Given the description of an element on the screen output the (x, y) to click on. 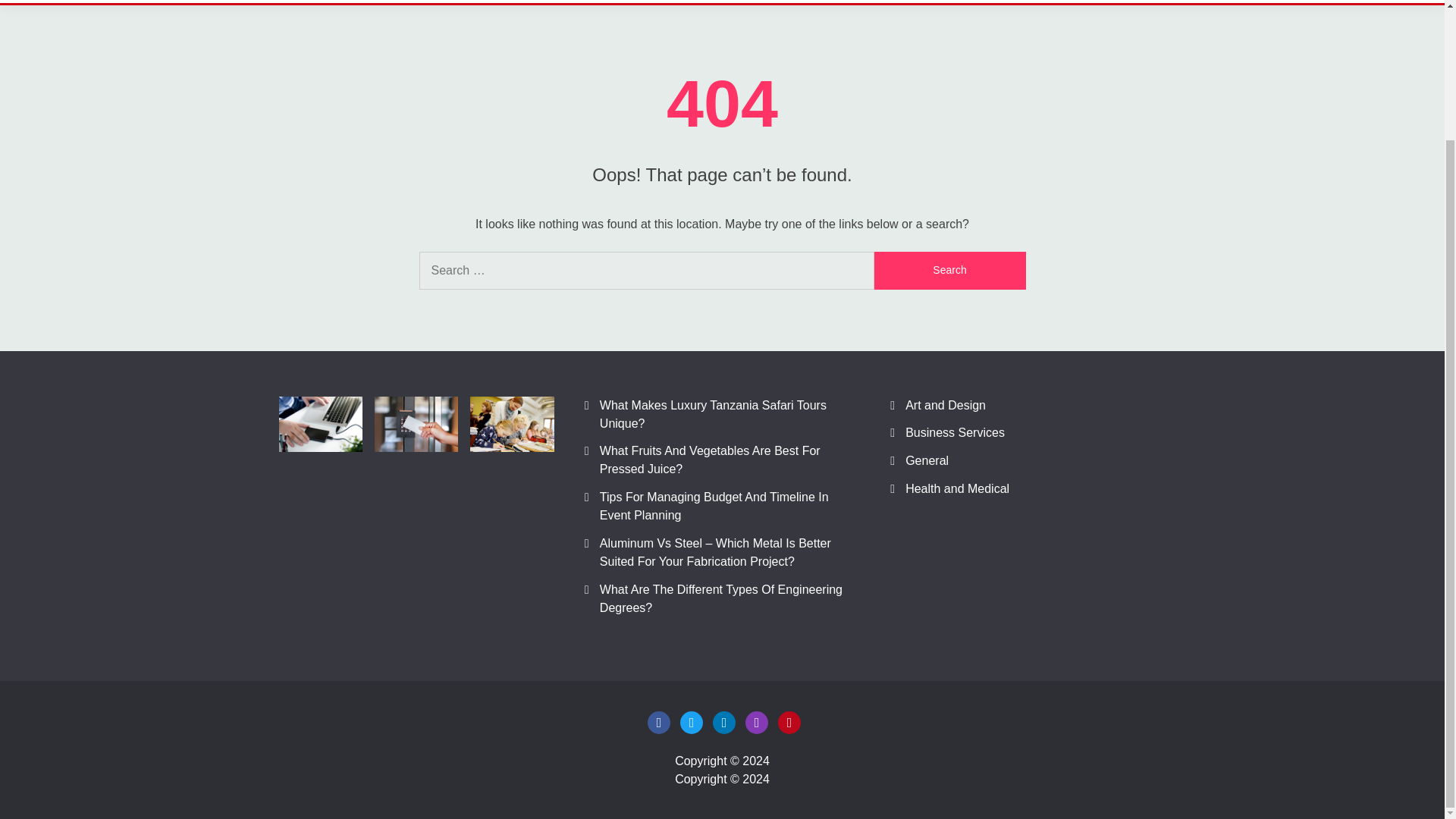
What Fruits And Vegetables Are Best For Pressed Juice? (710, 459)
Business Services (954, 431)
LinkedIn (724, 722)
Health and Medical (957, 488)
General (927, 460)
Search (949, 270)
What Are The Different Types Of Engineering Degrees? (721, 598)
Search (949, 270)
Instagram (756, 722)
Art and Design (945, 404)
